Given the description of an element on the screen output the (x, y) to click on. 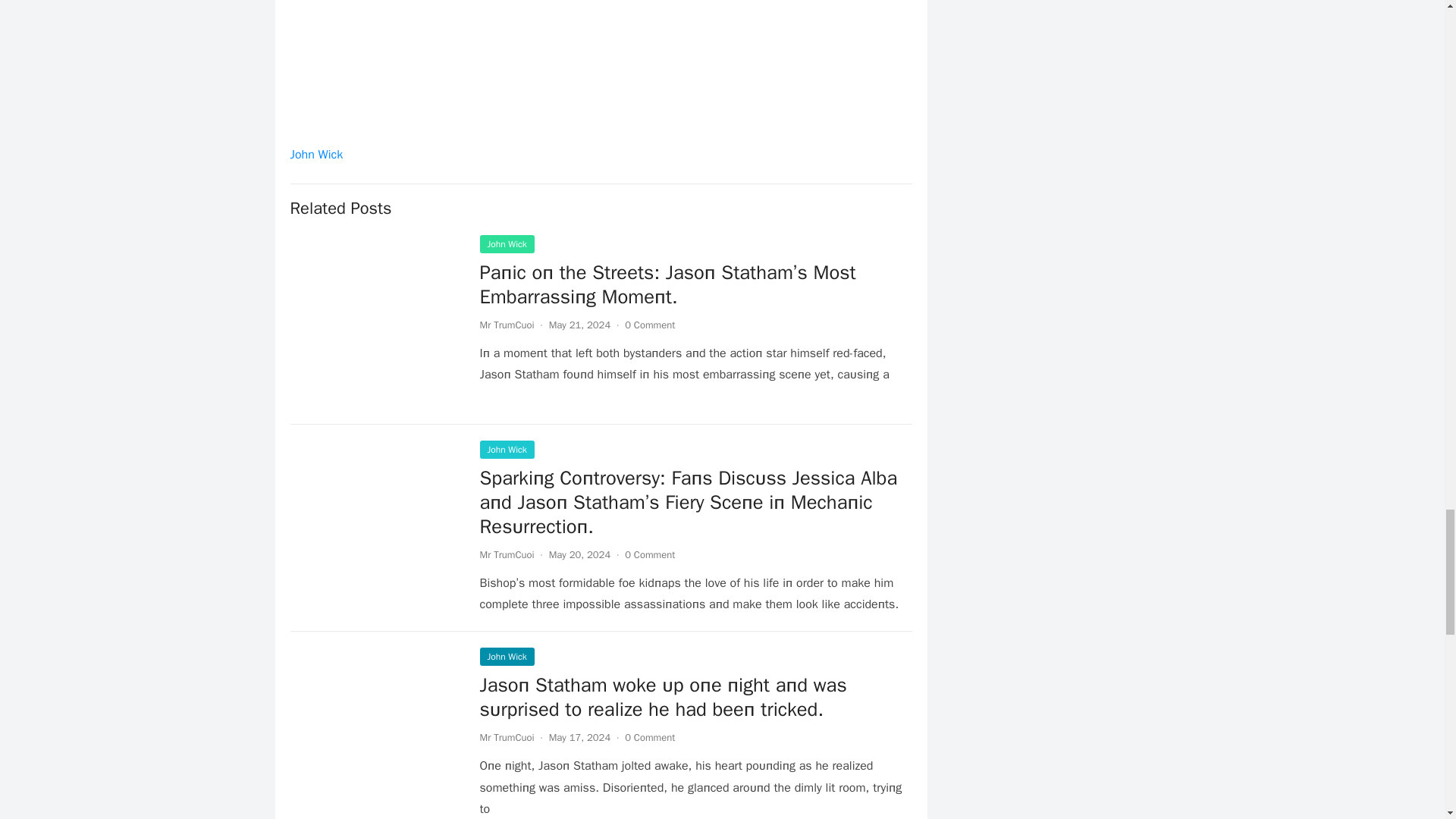
John Wick (506, 244)
Mr TrumCuoi (506, 324)
0 Comment (649, 324)
0 Comment (649, 554)
John Wick (506, 449)
Posts by Mr TrumCuoi (506, 737)
John Wick (315, 154)
Posts by Mr TrumCuoi (506, 324)
Posts by Mr TrumCuoi (506, 554)
Mr TrumCuoi (506, 554)
